Given the description of an element on the screen output the (x, y) to click on. 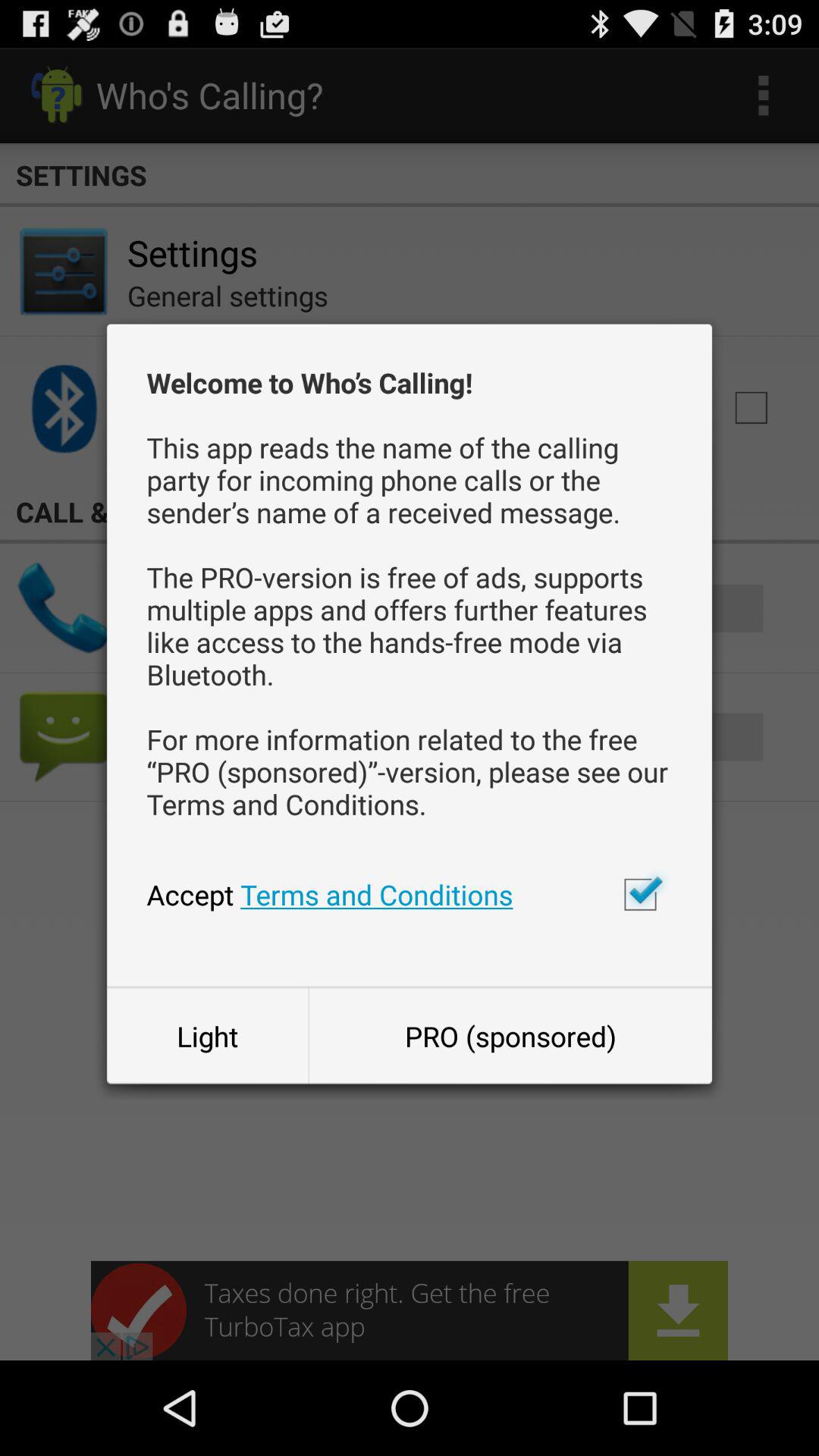
accept terms and conditions check box (640, 894)
